Given the description of an element on the screen output the (x, y) to click on. 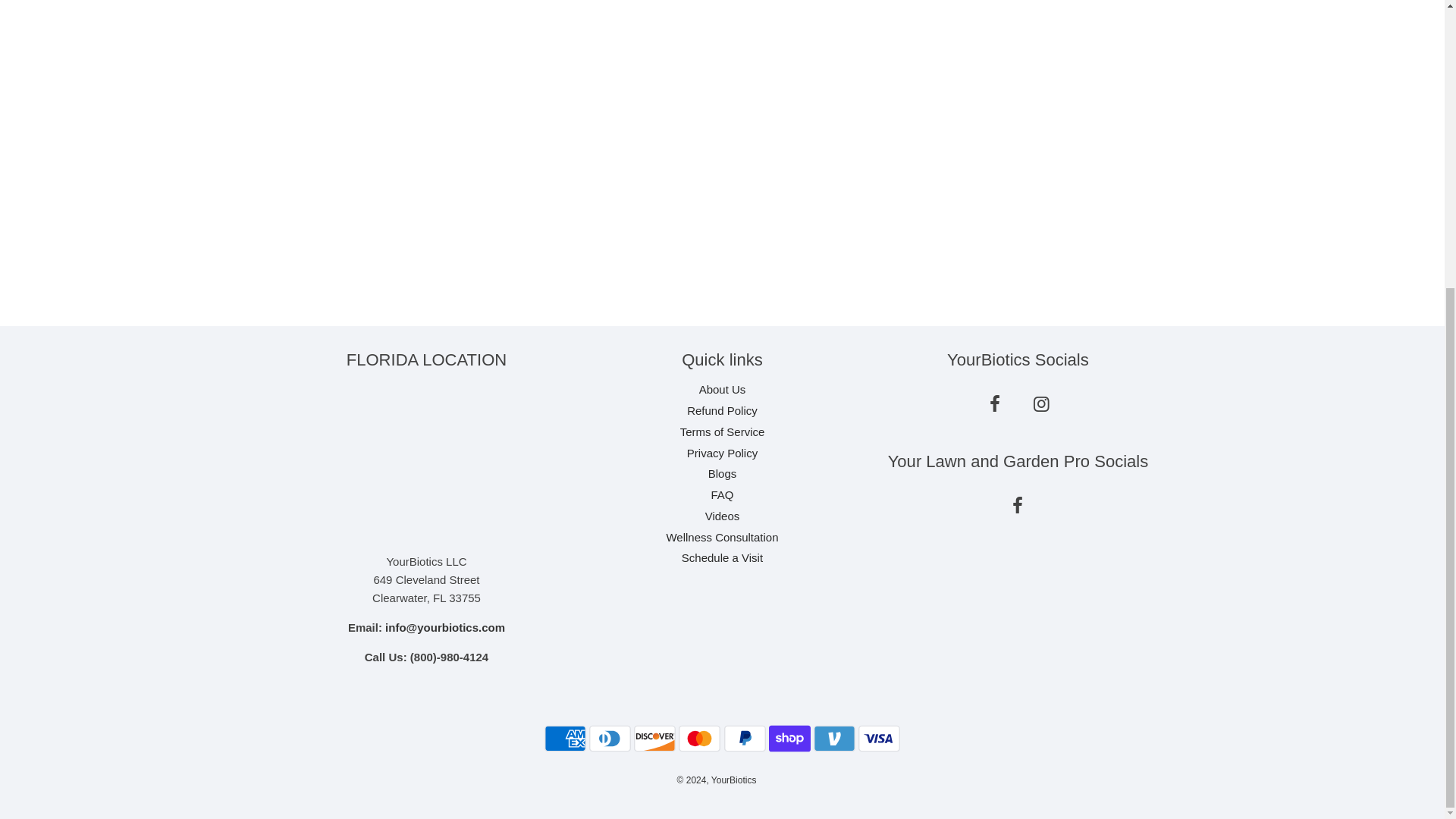
Discover (654, 738)
Shop Pay (789, 738)
American Express (565, 738)
PayPal (744, 738)
Venmo (834, 738)
Visa (879, 738)
Mastercard (699, 738)
Diners Club (609, 738)
